Given the description of an element on the screen output the (x, y) to click on. 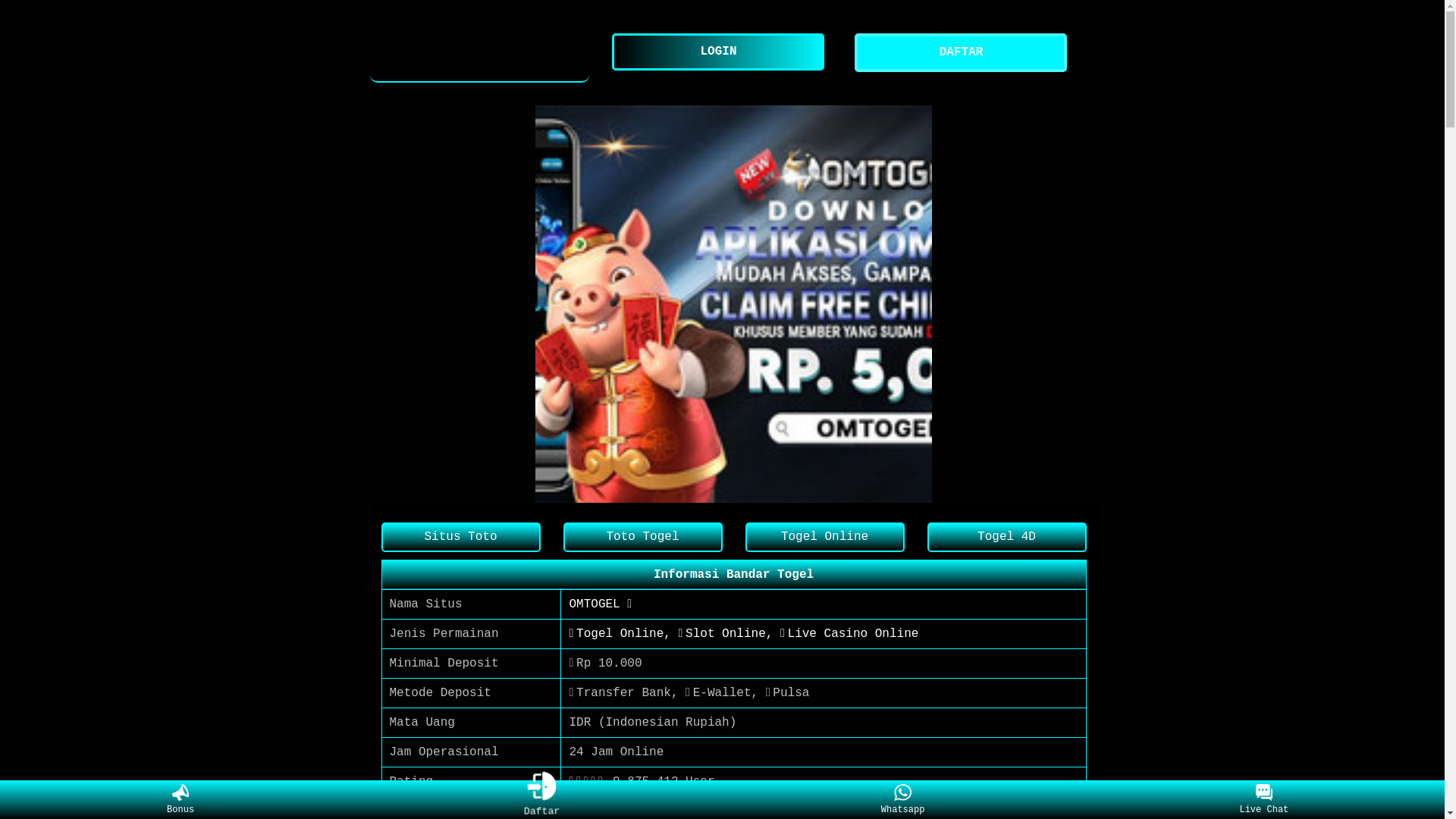
Situs Toto Element type: text (459, 537)
Next item in carousel (1 of 1) Element type: hover (1073, 303)
LOGIN Element type: text (721, 51)
Togel 4D Element type: text (1005, 537)
KLIK DISINI Element type: text (608, 811)
Previous item in carousel (1 of 1) Element type: hover (392, 303)
OMTOGEL Element type: hover (479, 52)
Live Chat Element type: text (1263, 799)
Togel Online Element type: text (823, 537)
DAFTAR Element type: text (964, 52)
Whatsapp Element type: text (902, 799)
Toto Togel Element type: text (641, 537)
Daftar Element type: text (537, 796)
Bonus Element type: text (180, 799)
